Given the description of an element on the screen output the (x, y) to click on. 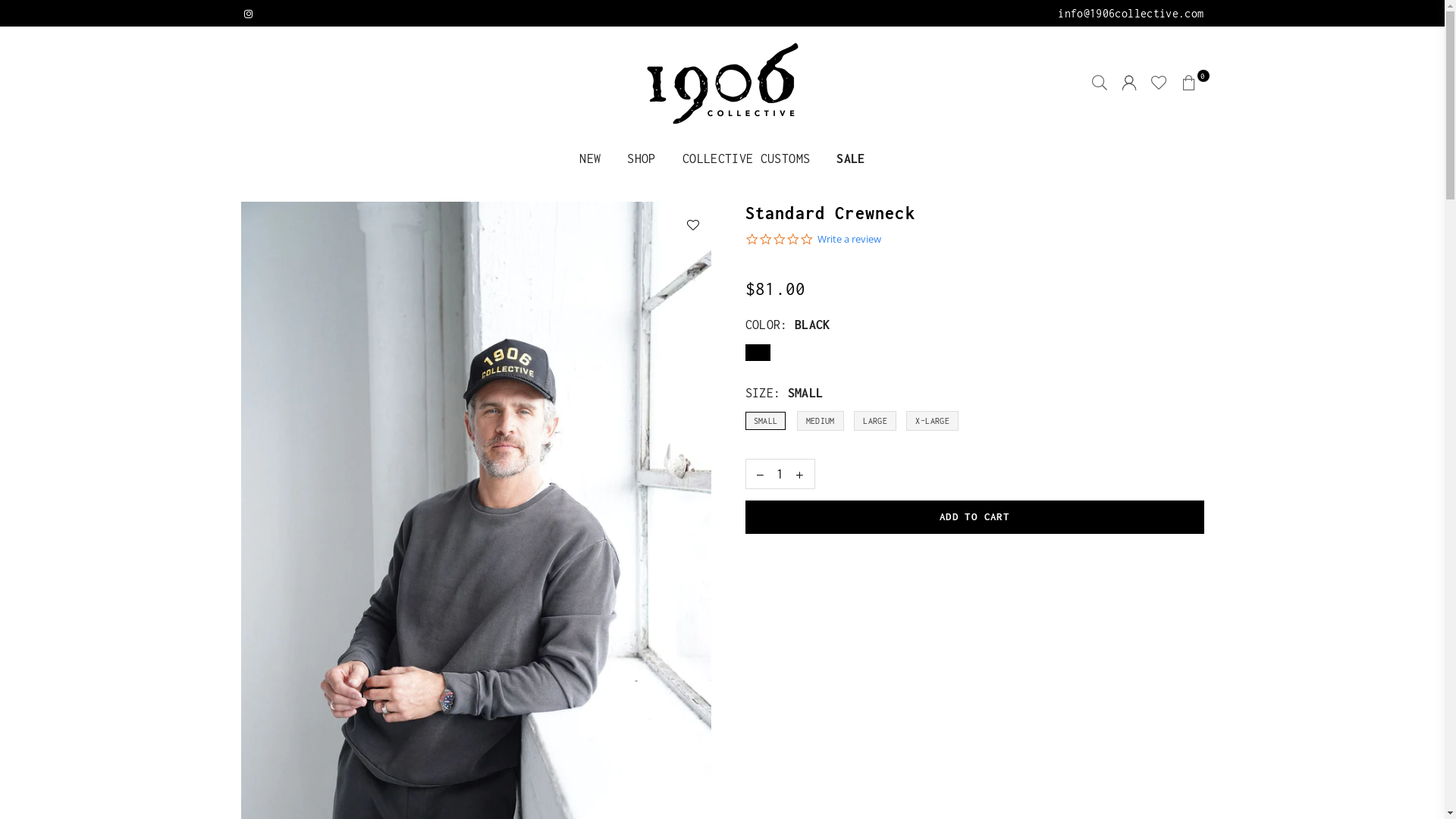
info@1906collective.com Element type: text (1130, 12)
SEARCH Element type: hover (1099, 83)
Quantity Element type: hover (779, 473)
ADD TO CART Element type: text (973, 516)
1906 COLLECTIVE Element type: text (722, 83)
SALE Element type: text (850, 159)
Write a review Element type: text (849, 239)
NEW Element type: text (589, 159)
COLLECTIVE CUSTOMS Element type: text (746, 159)
Logout Element type: hover (1128, 83)
SHOP Element type: text (640, 159)
Instagram Element type: text (247, 13)
0 Element type: text (1189, 83)
